Given the description of an element on the screen output the (x, y) to click on. 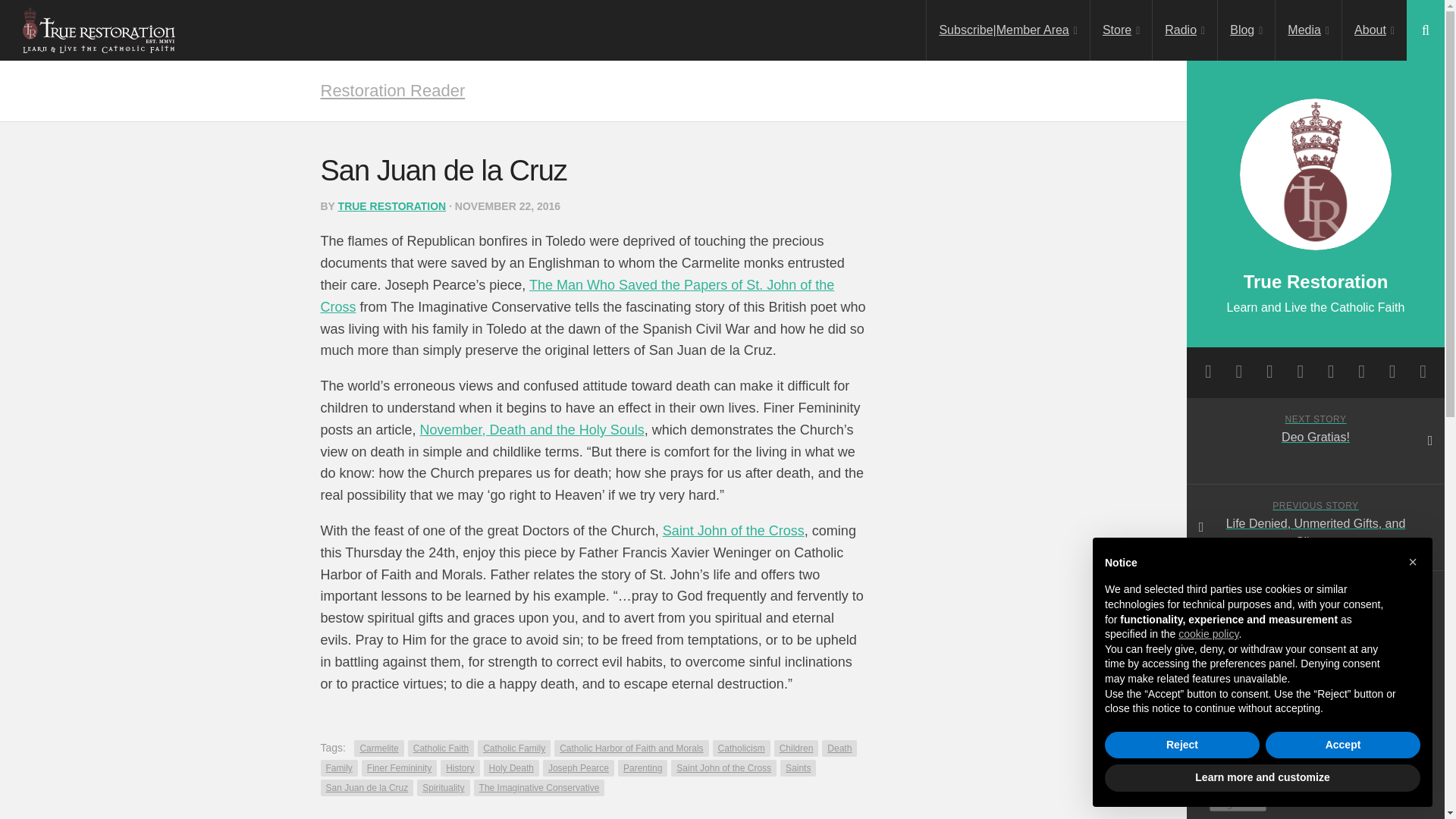
Store (1120, 30)
Log Me In (1237, 803)
Radio (1185, 30)
forever (1217, 783)
Blog (1246, 30)
Posts by True Restoration (391, 205)
Media (1307, 30)
